Given the description of an element on the screen output the (x, y) to click on. 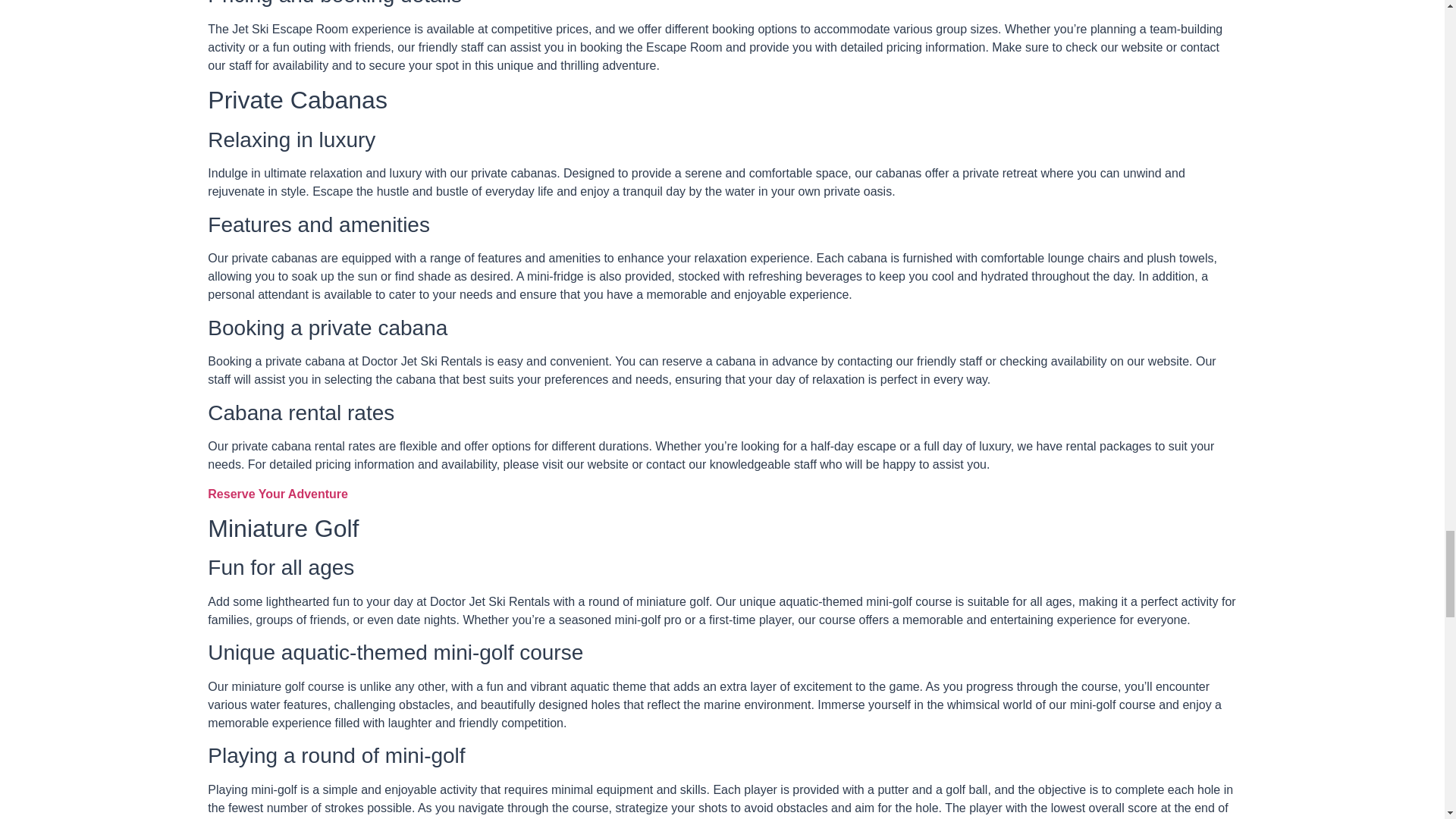
Find your new Reserve Your Adventure on this page. (277, 493)
Reserve Your Adventure (277, 493)
